Given the description of an element on the screen output the (x, y) to click on. 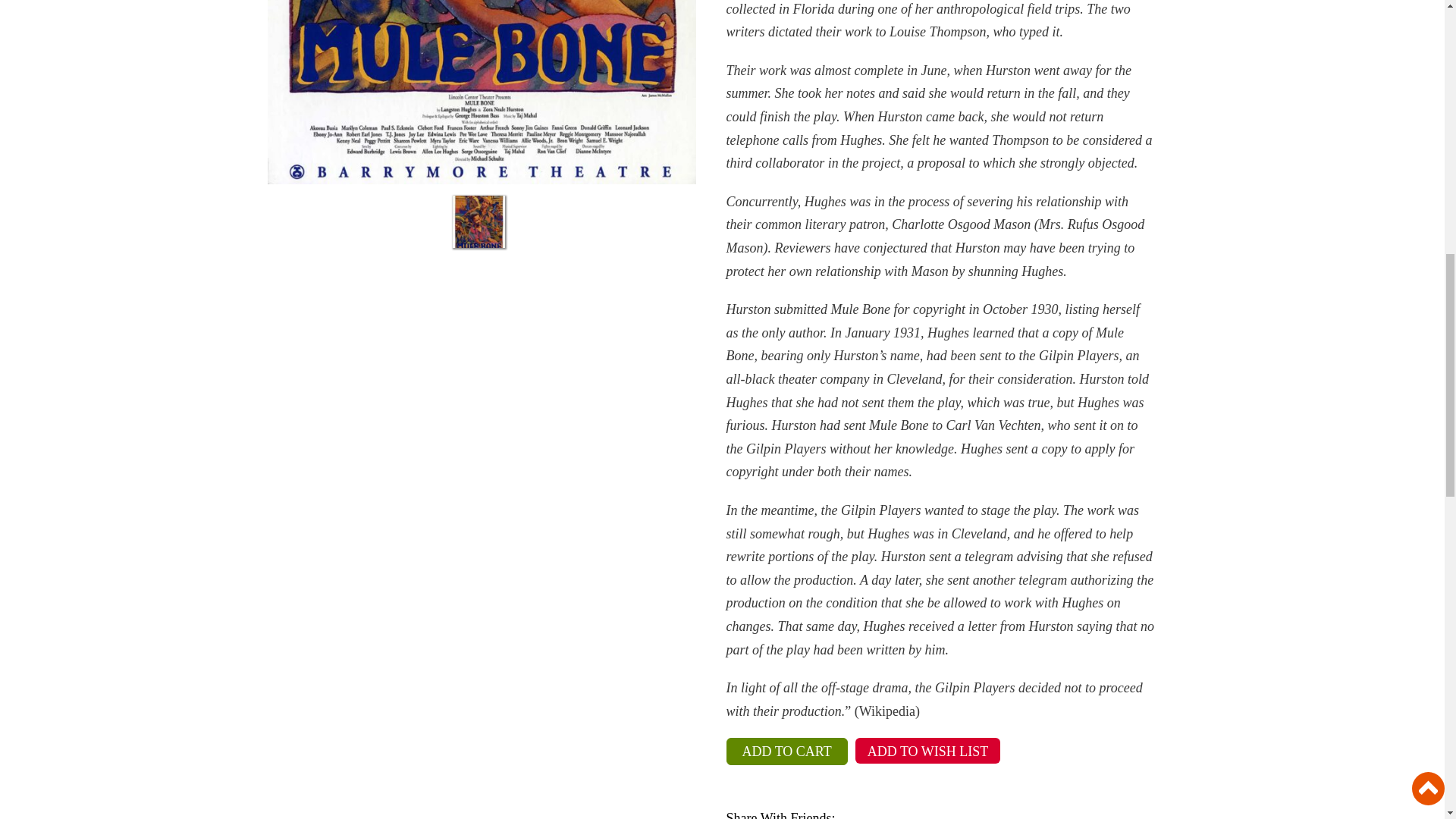
PayPal (940, 785)
